Given the description of an element on the screen output the (x, y) to click on. 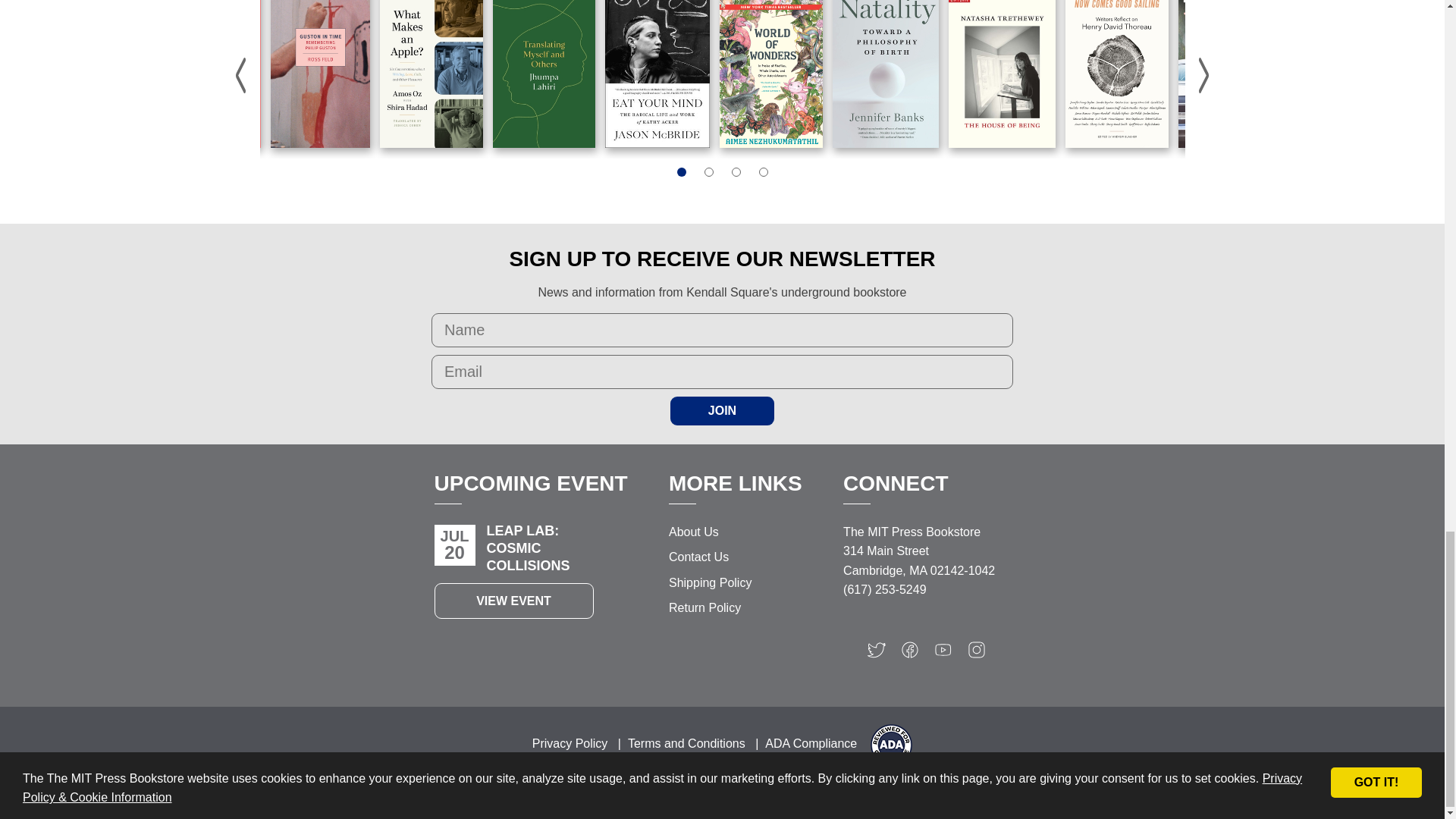
Join (721, 410)
